Given the description of an element on the screen output the (x, y) to click on. 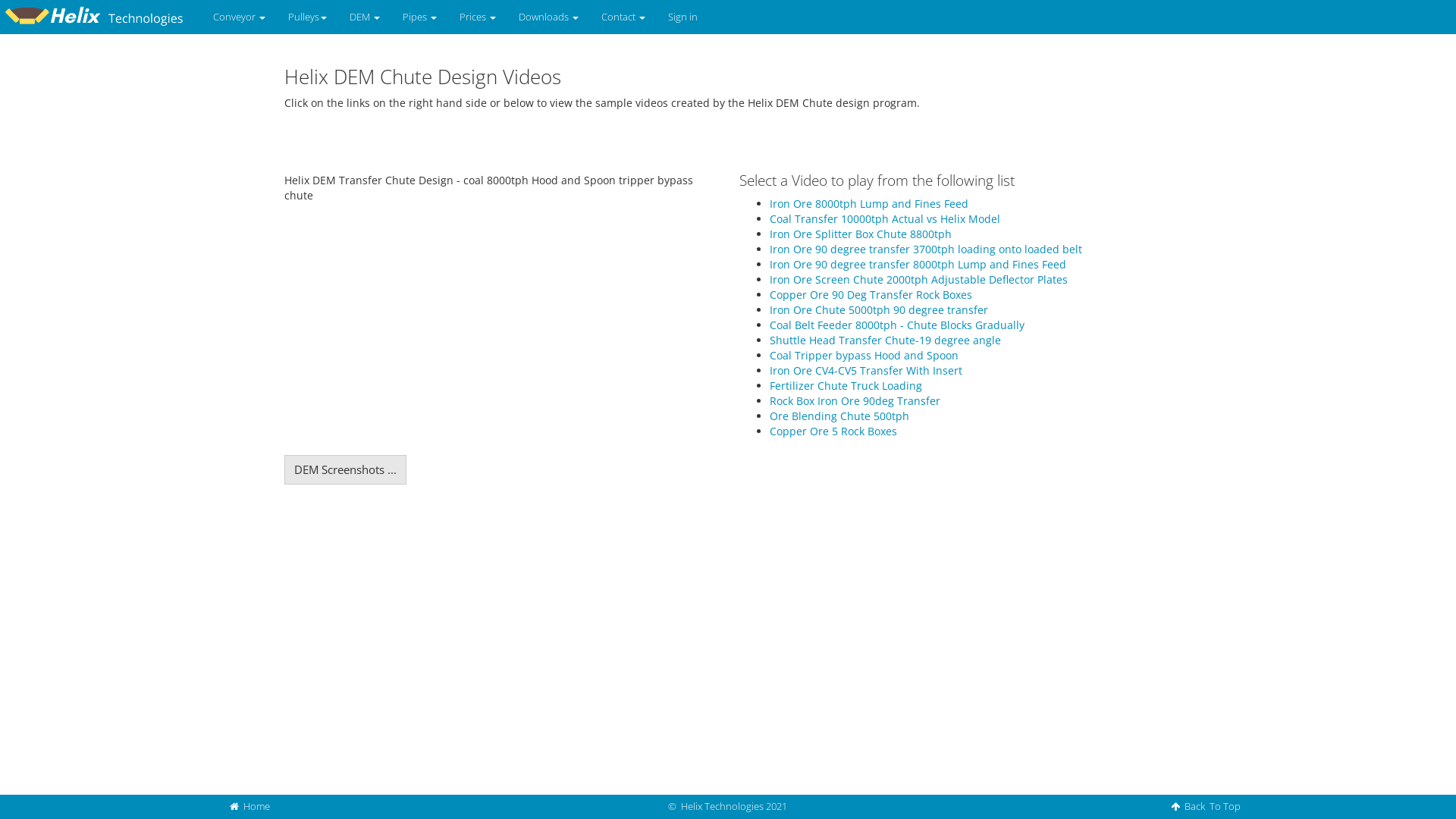
Downloads  Element type: text (548, 17)
Contact  Element type: text (622, 17)
Rock Box Iron Ore 90deg Transfer Element type: text (854, 400)
Shuttle Head Transfer Chute-19 degree angle Element type: text (885, 339)
Iron Ore 90 degree transfer 8000tph Lump and Fines Feed Element type: text (917, 264)
Iron Ore Screen Chute 2000tph Adjustable Deflector Plates Element type: text (918, 279)
  Back  To Top Element type: text (1205, 805)
Pipes  Element type: text (419, 17)
Coal Transfer 10000tph Actual vs Helix Model Element type: text (884, 218)
Iron Ore CV4-CV5 Transfer With Insert Element type: text (865, 370)
DEM Screenshots ... Element type: text (345, 469)
Copper Ore 90 Deg Transfer Rock Boxes Element type: text (870, 294)
Iron Ore Chute 5000tph 90 degree transfer Element type: text (878, 309)
Iron Ore 90 degree transfer 3700tph loading onto loaded belt Element type: text (925, 248)
Coal Tripper bypass Hood and Spoon Element type: text (863, 355)
DEM  Element type: text (364, 17)
Fertilizer Chute Truck Loading Element type: text (845, 385)
Sign in Element type: text (682, 17)
Ore Blending Chute 500tph Element type: text (839, 415)
  Home Element type: text (249, 805)
Iron Ore 8000tph Lump and Fines Feed Element type: text (868, 203)
Copper Ore 5 Rock Boxes Element type: text (833, 430)
Pulleys Element type: text (307, 17)
Conveyor  Element type: text (238, 17)
Coal Belt Feeder 8000tph - Chute Blocks Gradually Element type: text (896, 324)
Iron Ore Splitter Box Chute 8800tph Element type: text (860, 233)
Prices  Element type: text (477, 17)
